Given the description of an element on the screen output the (x, y) to click on. 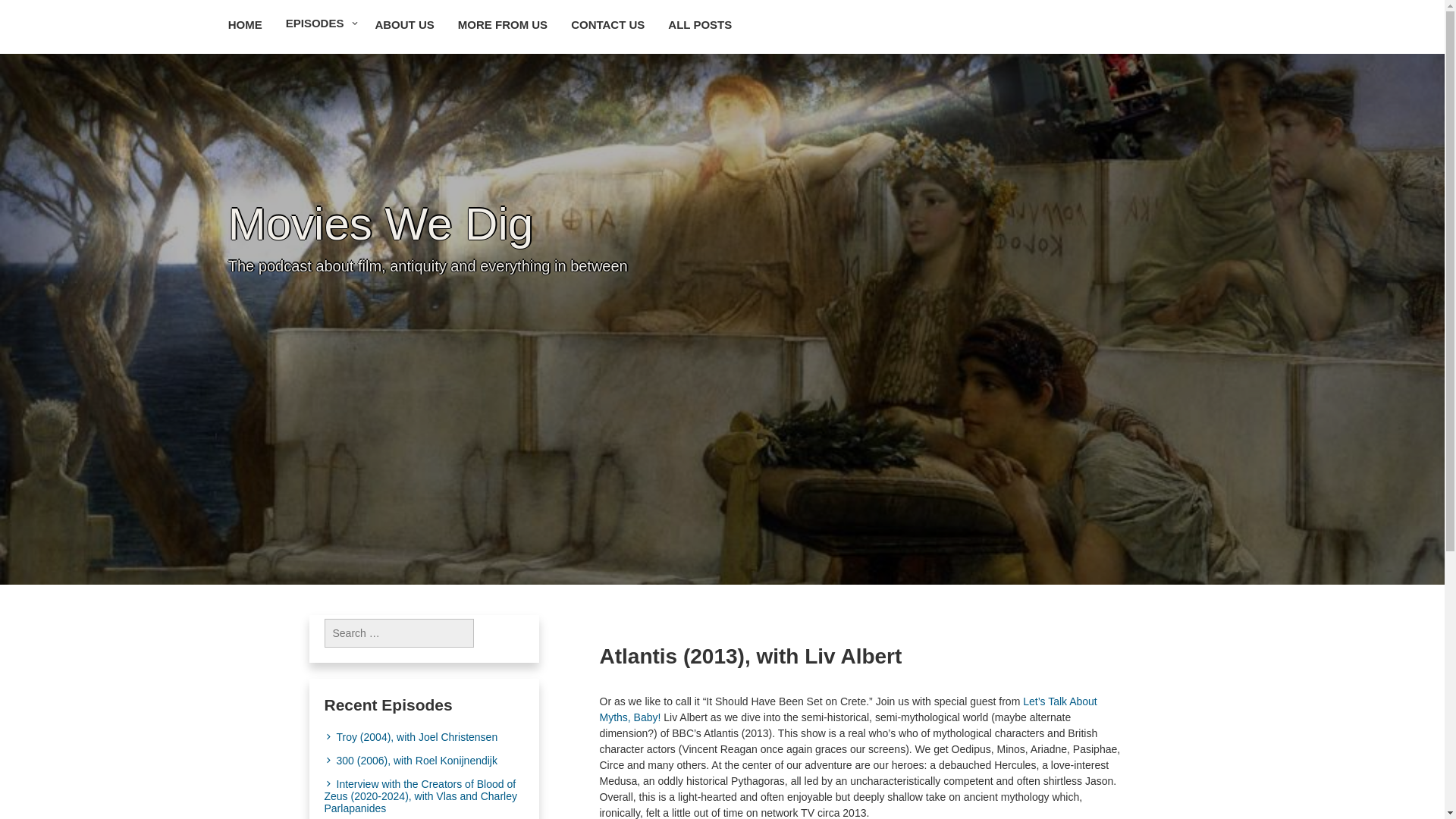
ABOUT US (403, 25)
EPISODES (319, 24)
Search (31, 15)
MORE FROM US (502, 25)
HOME (245, 25)
ALL POSTS (700, 25)
CONTACT US (607, 25)
Movies We Dig (380, 224)
